Given the description of an element on the screen output the (x, y) to click on. 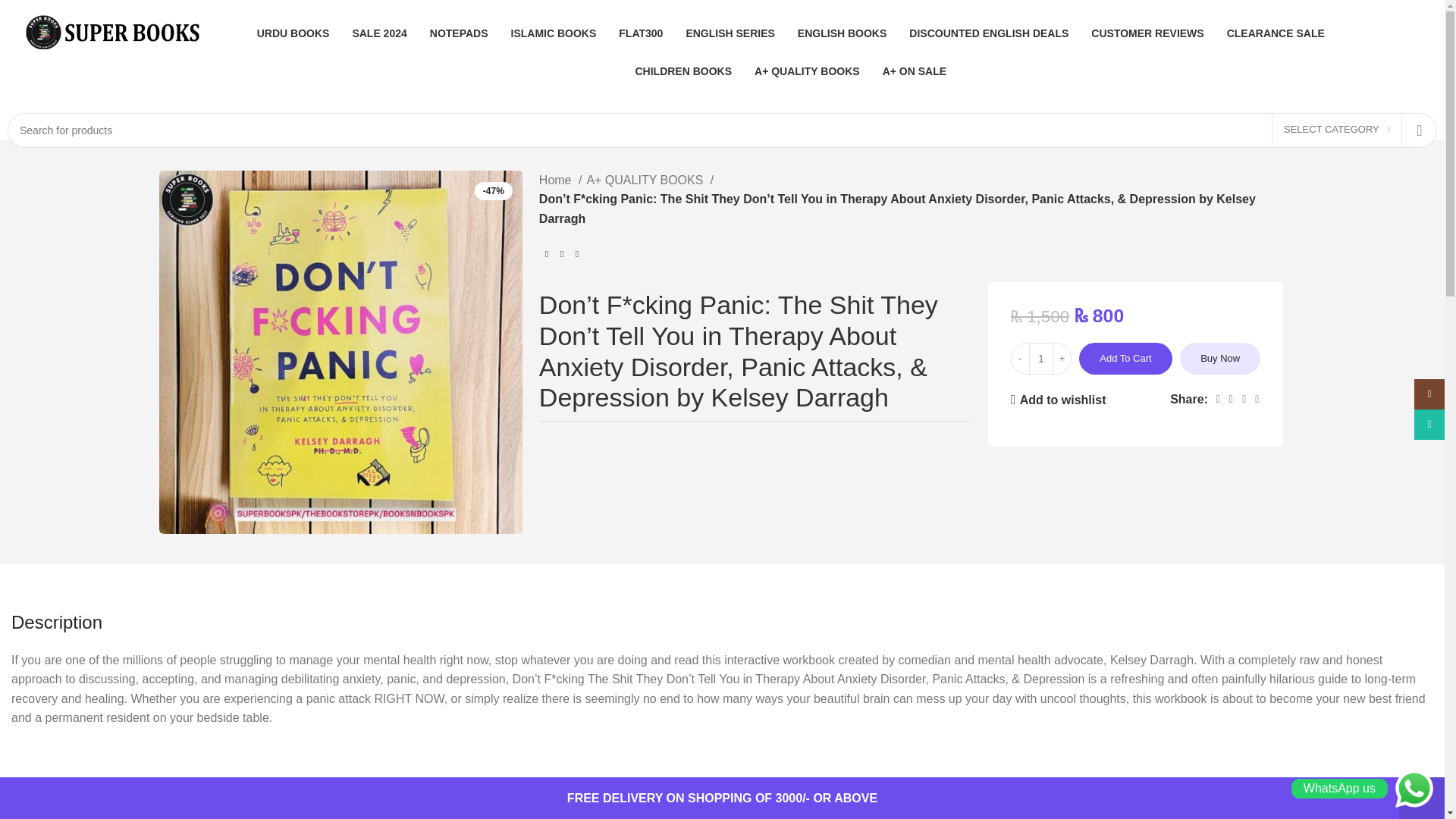
FLAT300 (640, 33)
Search for products (722, 130)
ENGLISH BOOKS (841, 33)
URDU BOOKS (293, 33)
ENGLISH SERIES (729, 33)
SELECT CATEGORY (1336, 130)
Search (1419, 130)
NOTEPADS (458, 33)
CUSTOMER REVIEWS (1147, 33)
CLEARANCE SALE (1275, 33)
SALE 2024 (379, 33)
DISCOUNTED ENGLISH DEALS (988, 33)
Home (560, 180)
ISLAMIC BOOKS (553, 33)
CHILDREN BOOKS (683, 71)
